Given the description of an element on the screen output the (x, y) to click on. 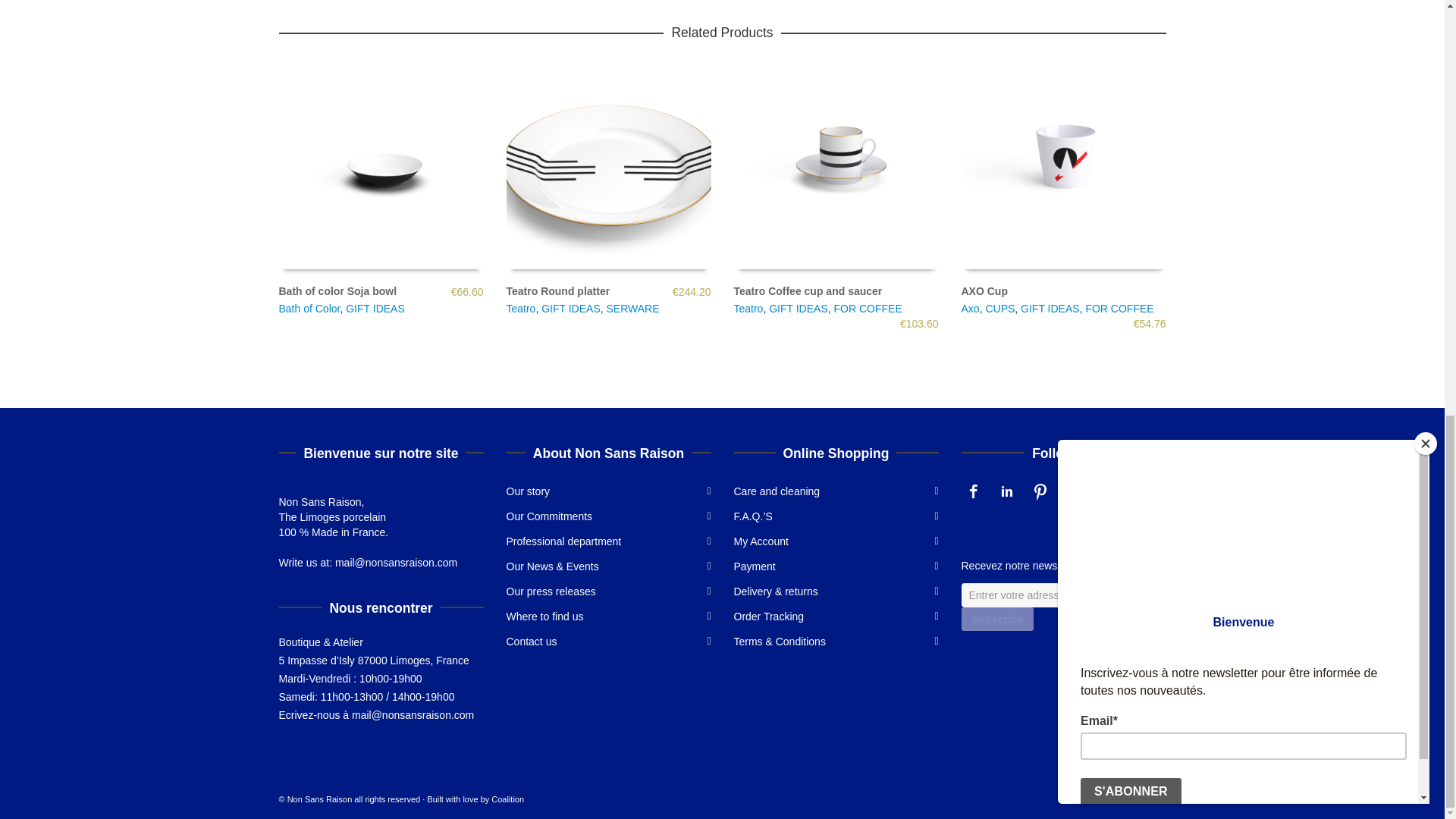
Subscribe (996, 618)
